Given the description of an element on the screen output the (x, y) to click on. 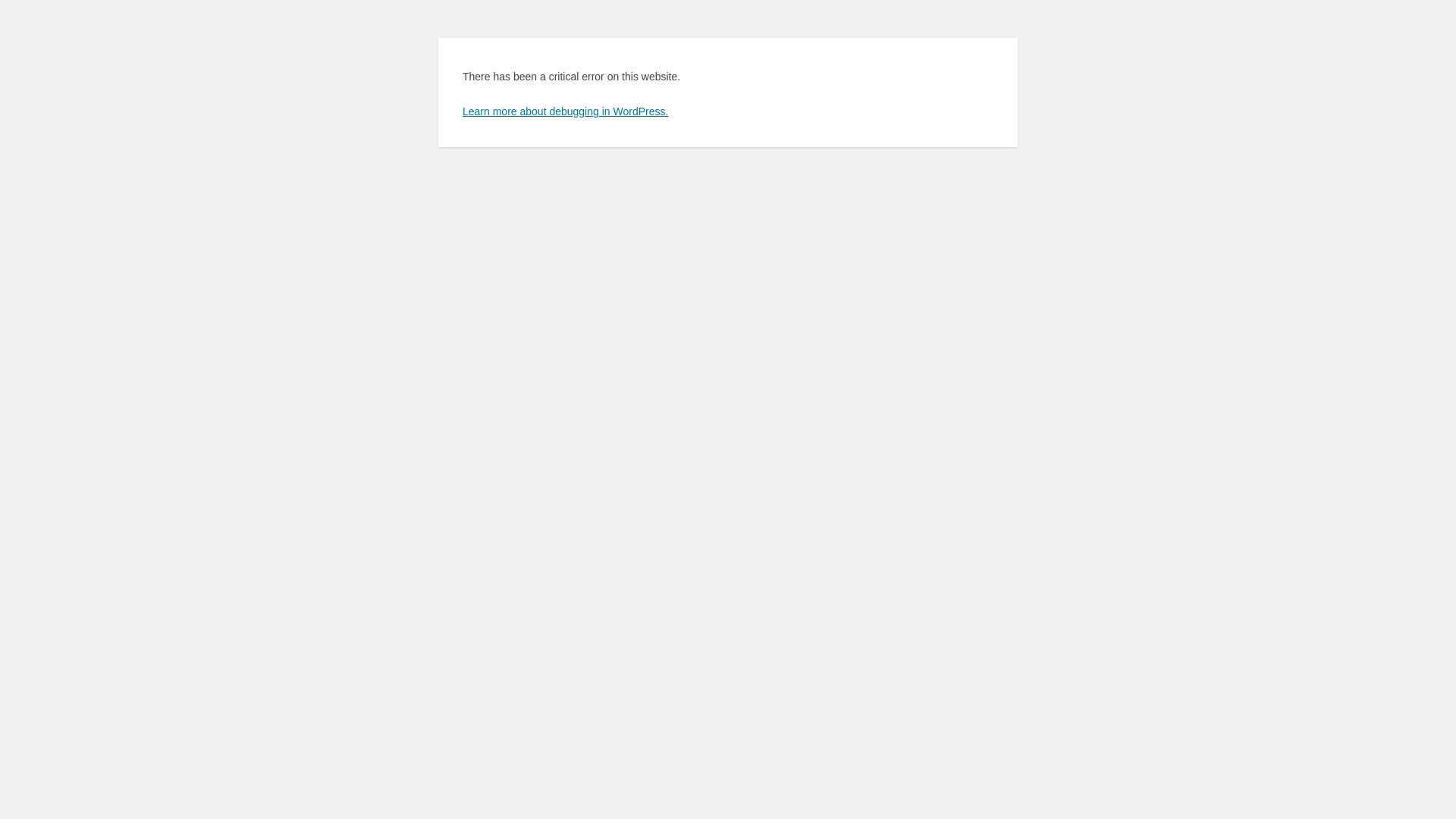
Learn more about debugging in WordPress. Element type: text (565, 111)
